Given the description of an element on the screen output the (x, y) to click on. 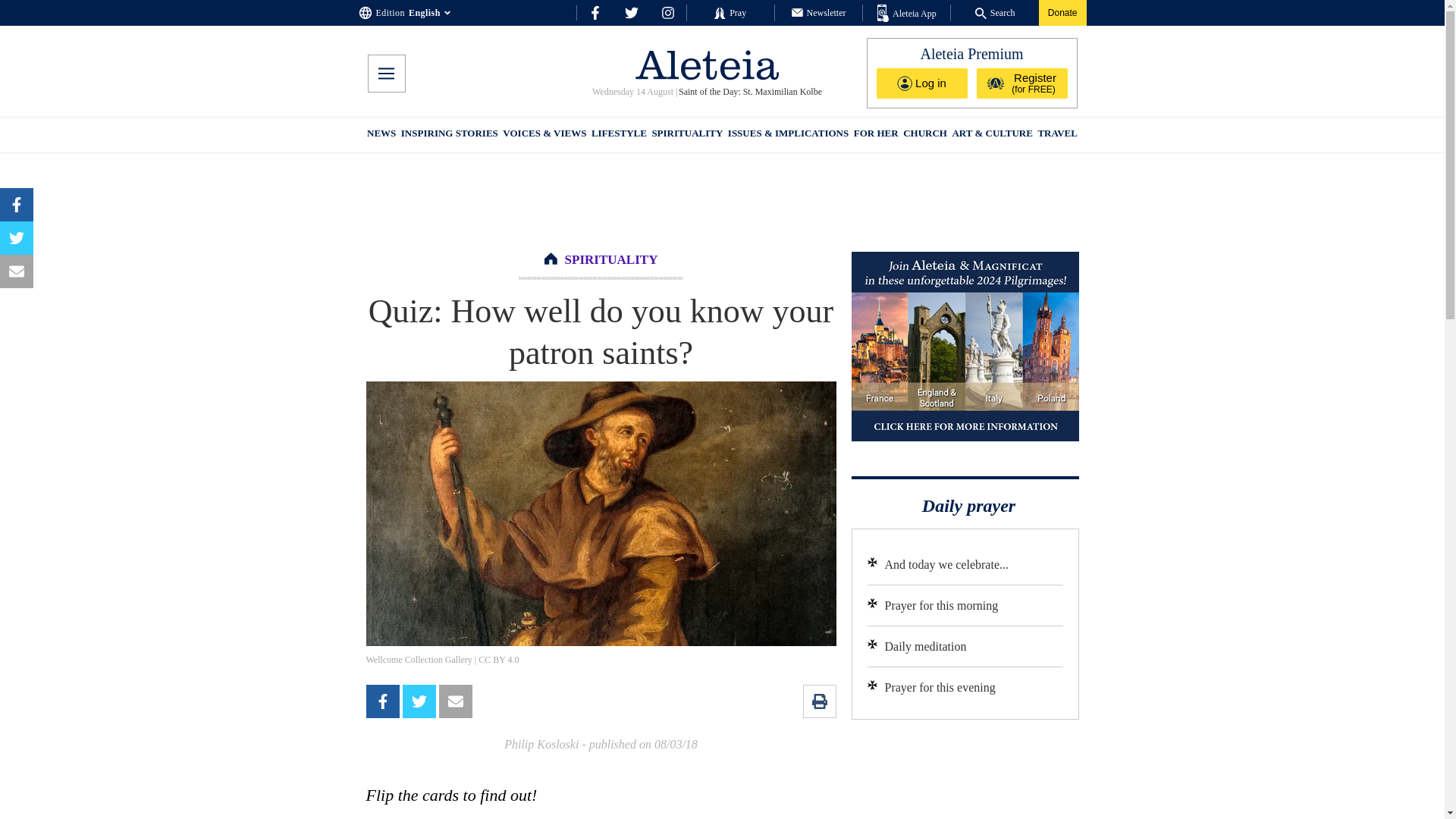
SPIRITUALITY (611, 259)
Philip Kosloski (540, 744)
social-tw-top-row (631, 12)
Pray (729, 12)
INSPIRING STORIES (449, 134)
mobile-menu-btn (385, 73)
Donate (1062, 12)
social-fb-top-row (595, 12)
Newsletter (818, 12)
Search (994, 12)
